Given the description of an element on the screen output the (x, y) to click on. 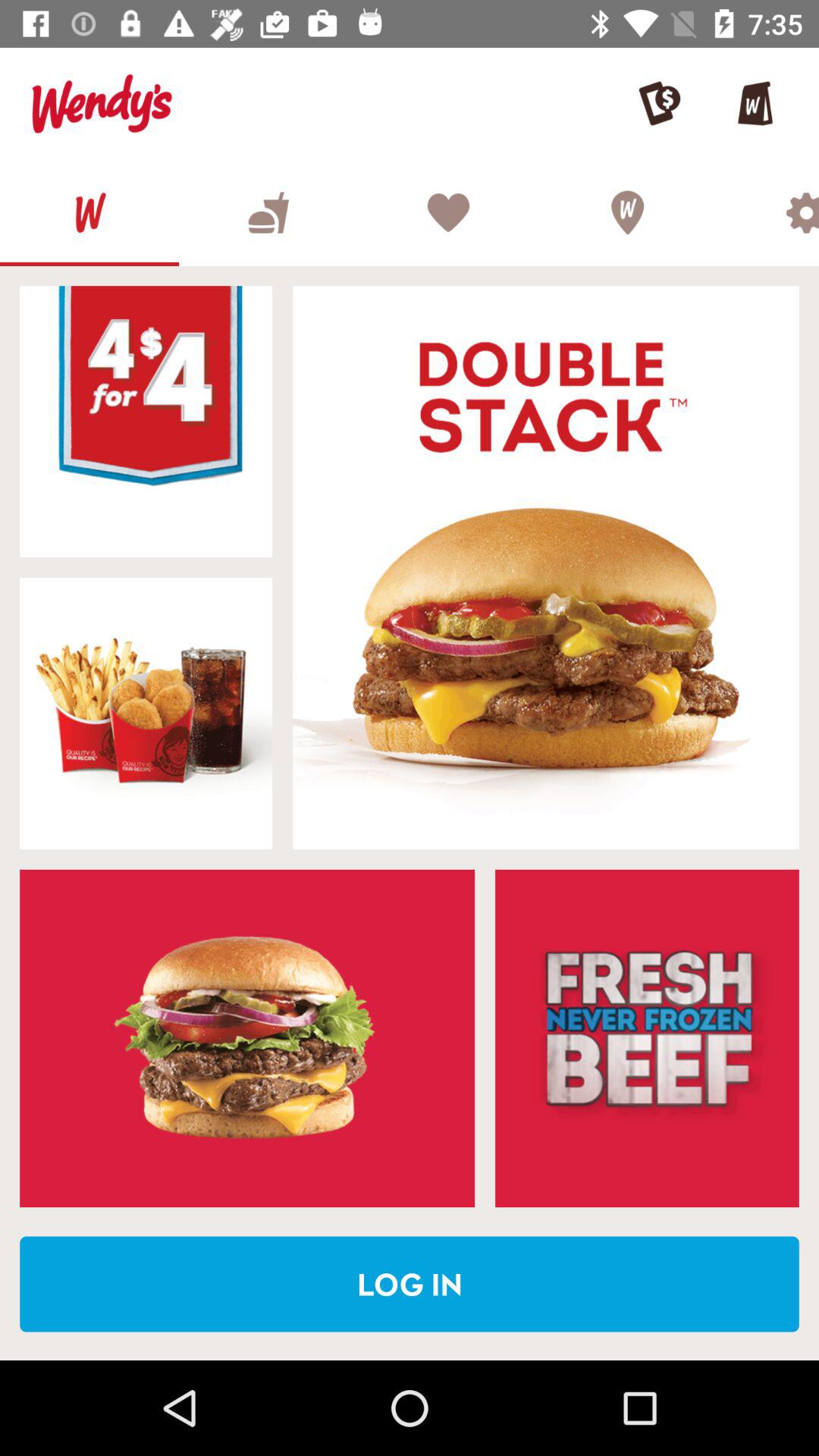
choose the selected advertisement (145, 713)
